Given the description of an element on the screen output the (x, y) to click on. 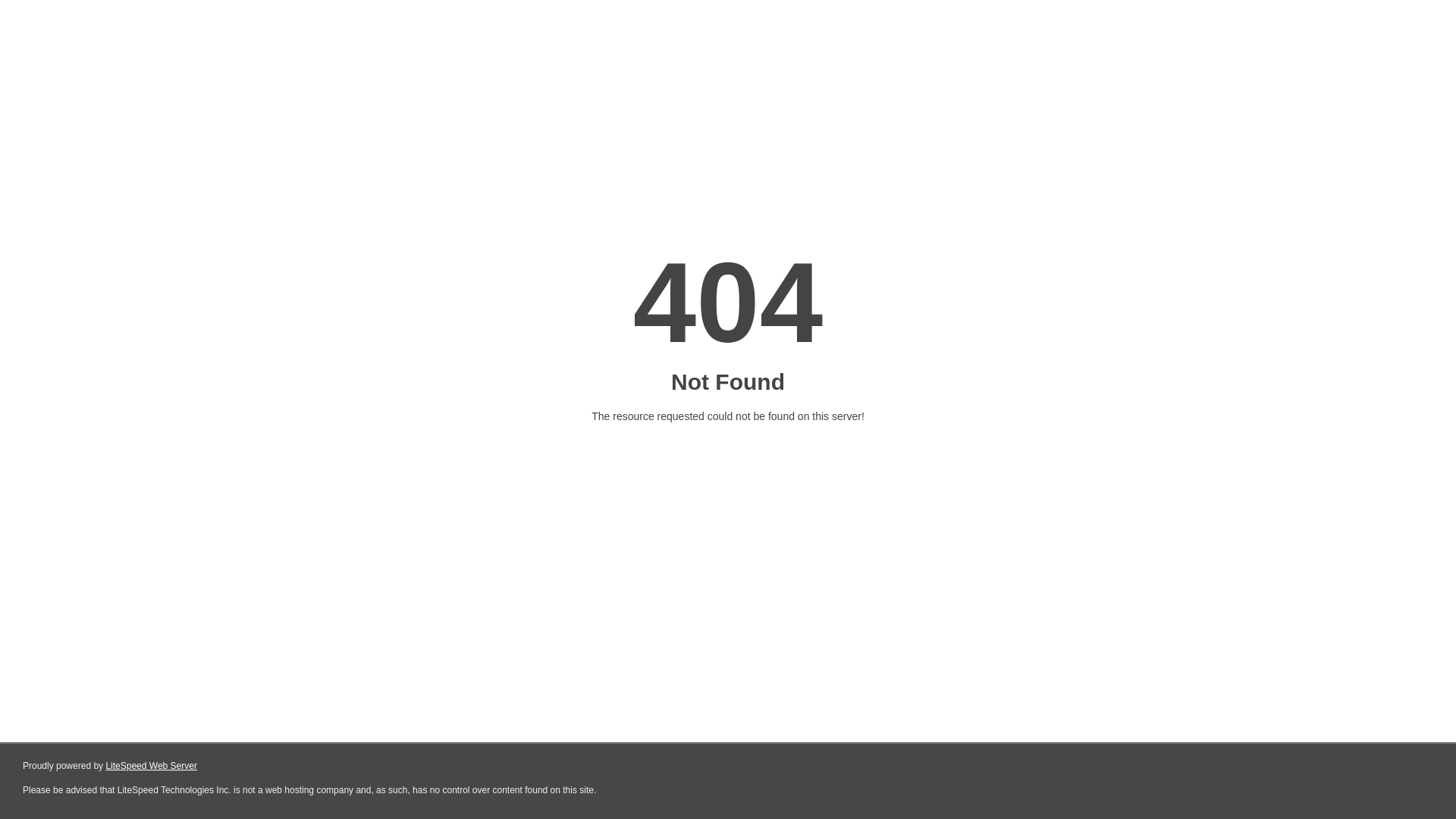
LiteSpeed Web Server Element type: text (151, 765)
